Given the description of an element on the screen output the (x, y) to click on. 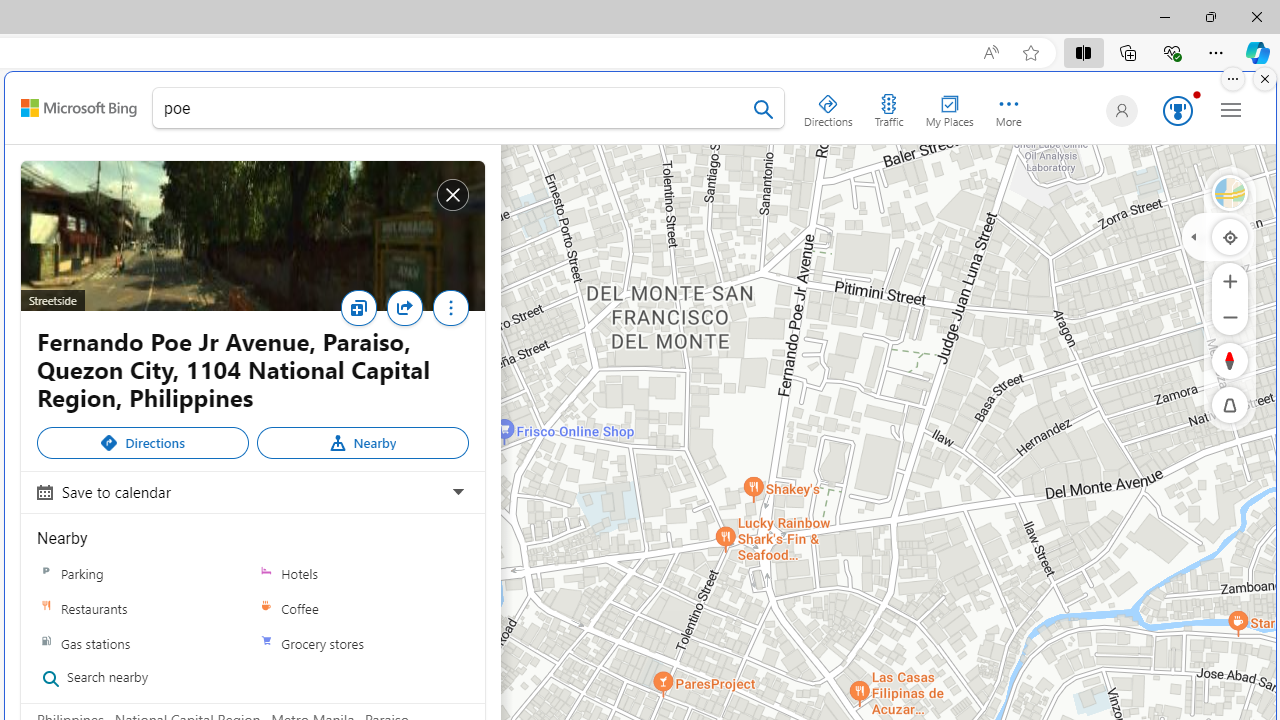
Class: sbElement (79, 107)
More options. (1233, 79)
Streetside (1230, 192)
Coffee (362, 608)
Save (363, 314)
Share (404, 308)
Add a search (453, 107)
Restaurants (46, 609)
Locate me (1230, 236)
Search Bing Maps (763, 109)
Grocery stores (266, 643)
Zoom In (1230, 280)
